Given the description of an element on the screen output the (x, y) to click on. 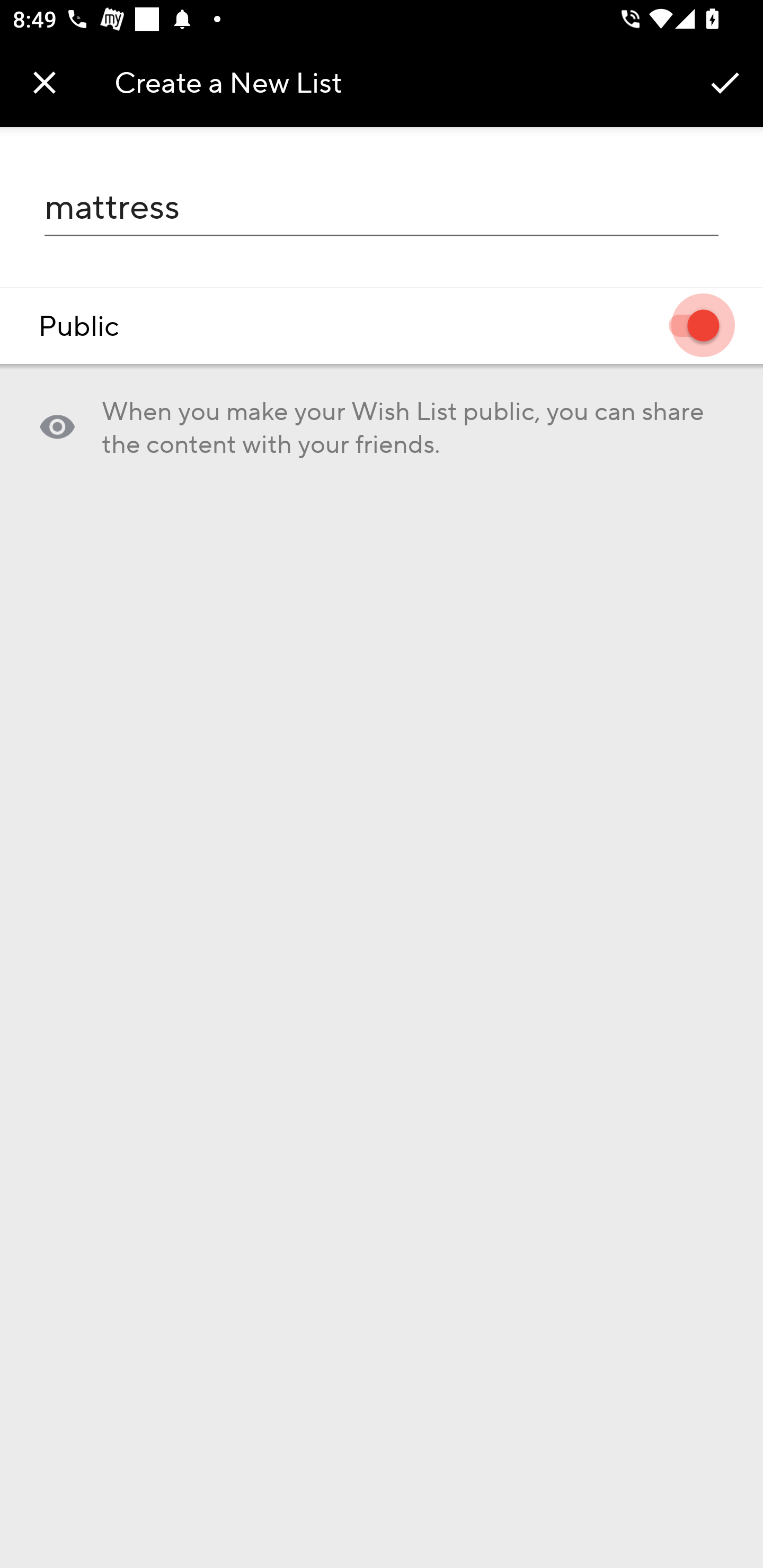
Navigate up (44, 82)
Done (724, 81)
mattress (381, 206)
